Given the description of an element on the screen output the (x, y) to click on. 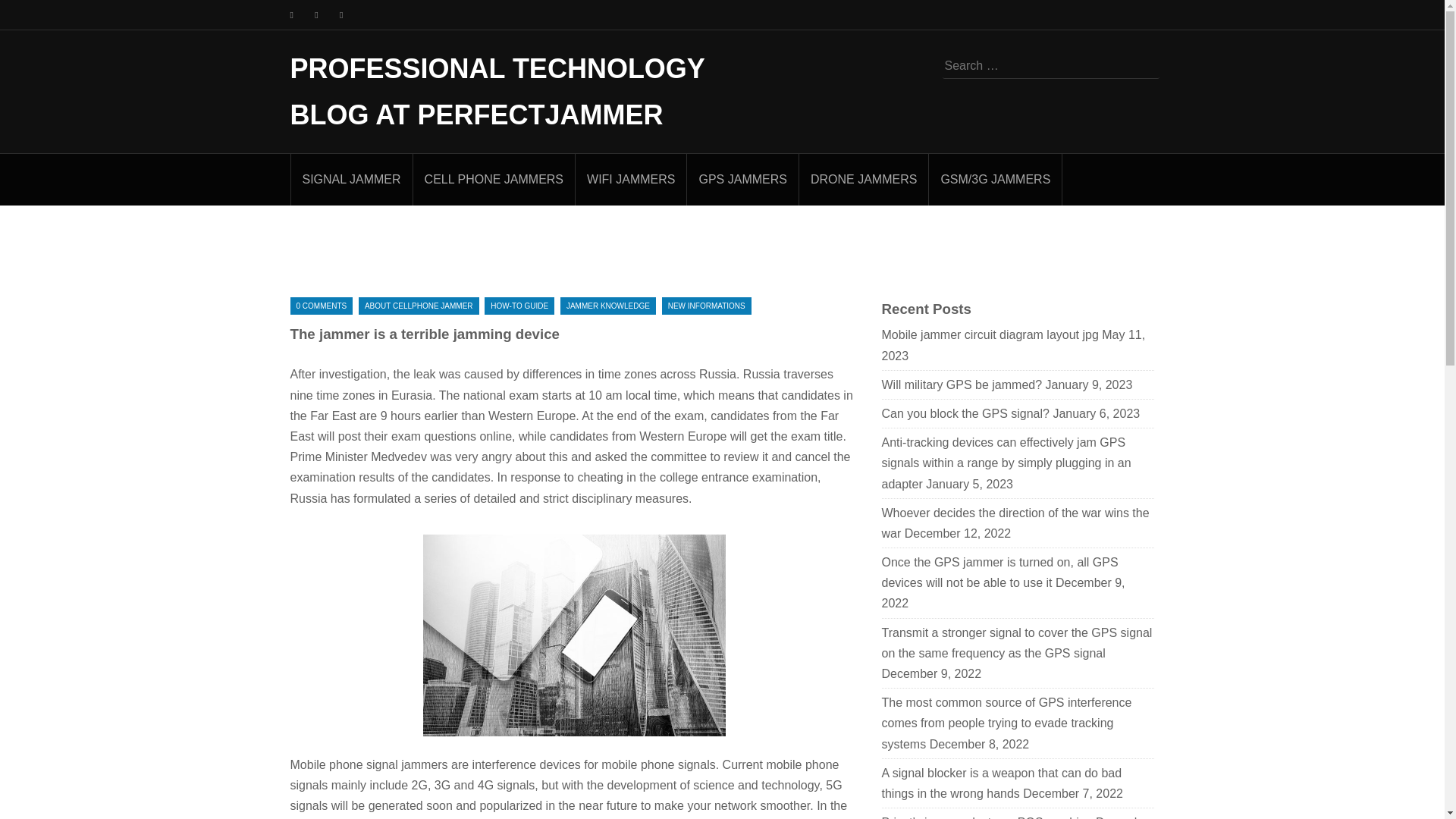
SIGNAL JAMMER (351, 178)
CELL PHONE JAMMERS (494, 178)
PROFESSIONAL TECHNOLOGY BLOG AT PERFECTJAMMER (496, 91)
HOW-TO GUIDE (519, 305)
Mobile jammer circuit diagram layout jpg (988, 334)
DRONE JAMMERS (863, 178)
NEW INFORMATIONS (706, 305)
ABOUT CELLPHONE JAMMER (418, 305)
Can you block the GPS signal? (964, 413)
Will military GPS be jammed? (961, 384)
